Given the description of an element on the screen output the (x, y) to click on. 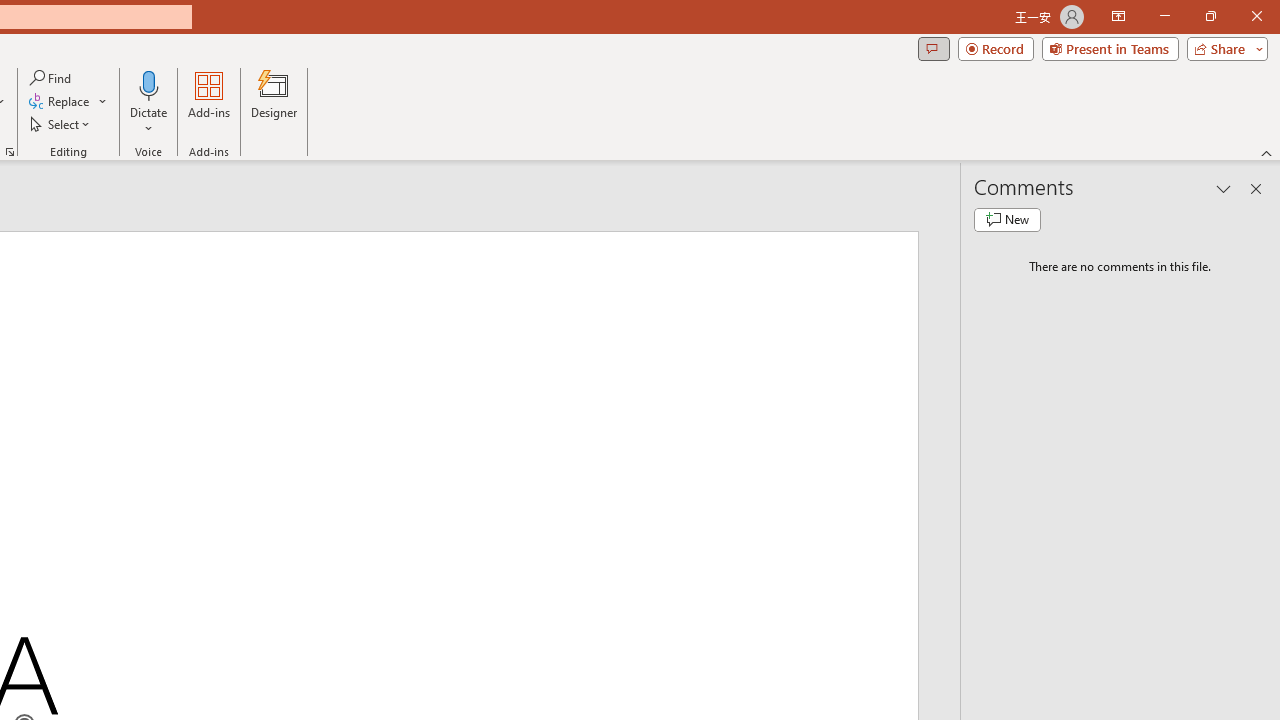
New comment (1007, 219)
